Given the description of an element on the screen output the (x, y) to click on. 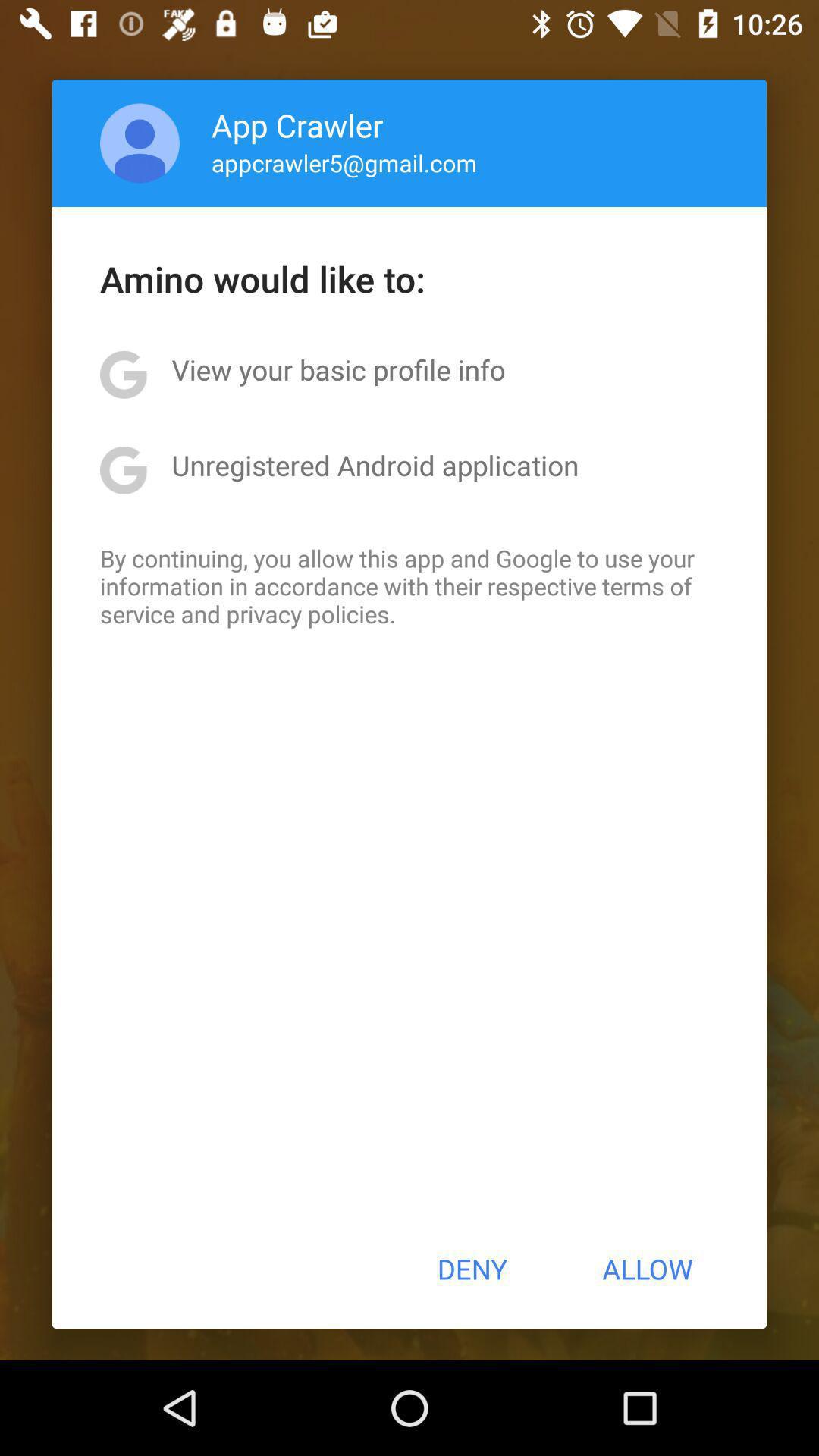
tap item below the amino would like item (338, 369)
